Given the description of an element on the screen output the (x, y) to click on. 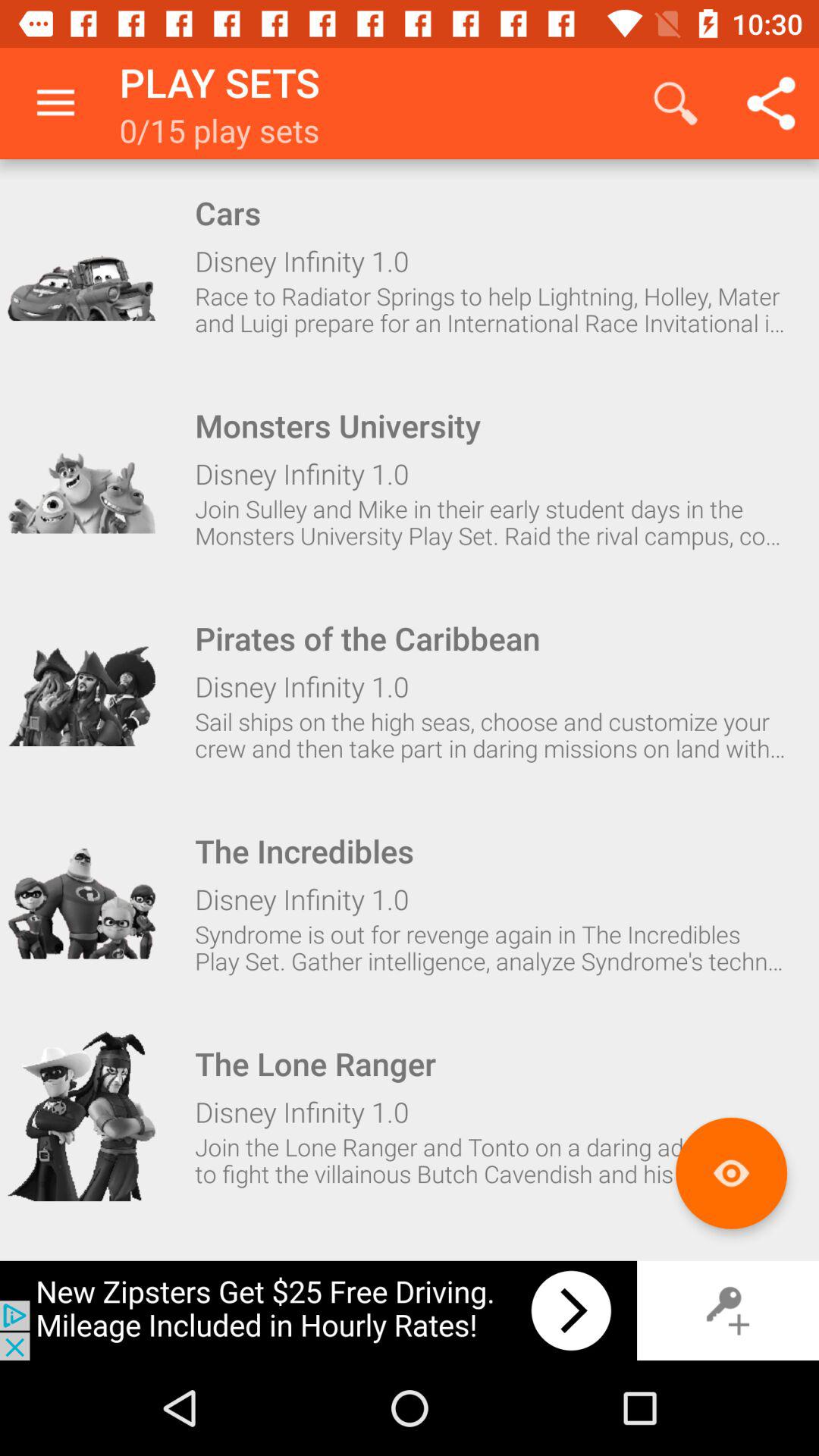
open video (81, 1116)
